Given the description of an element on the screen output the (x, y) to click on. 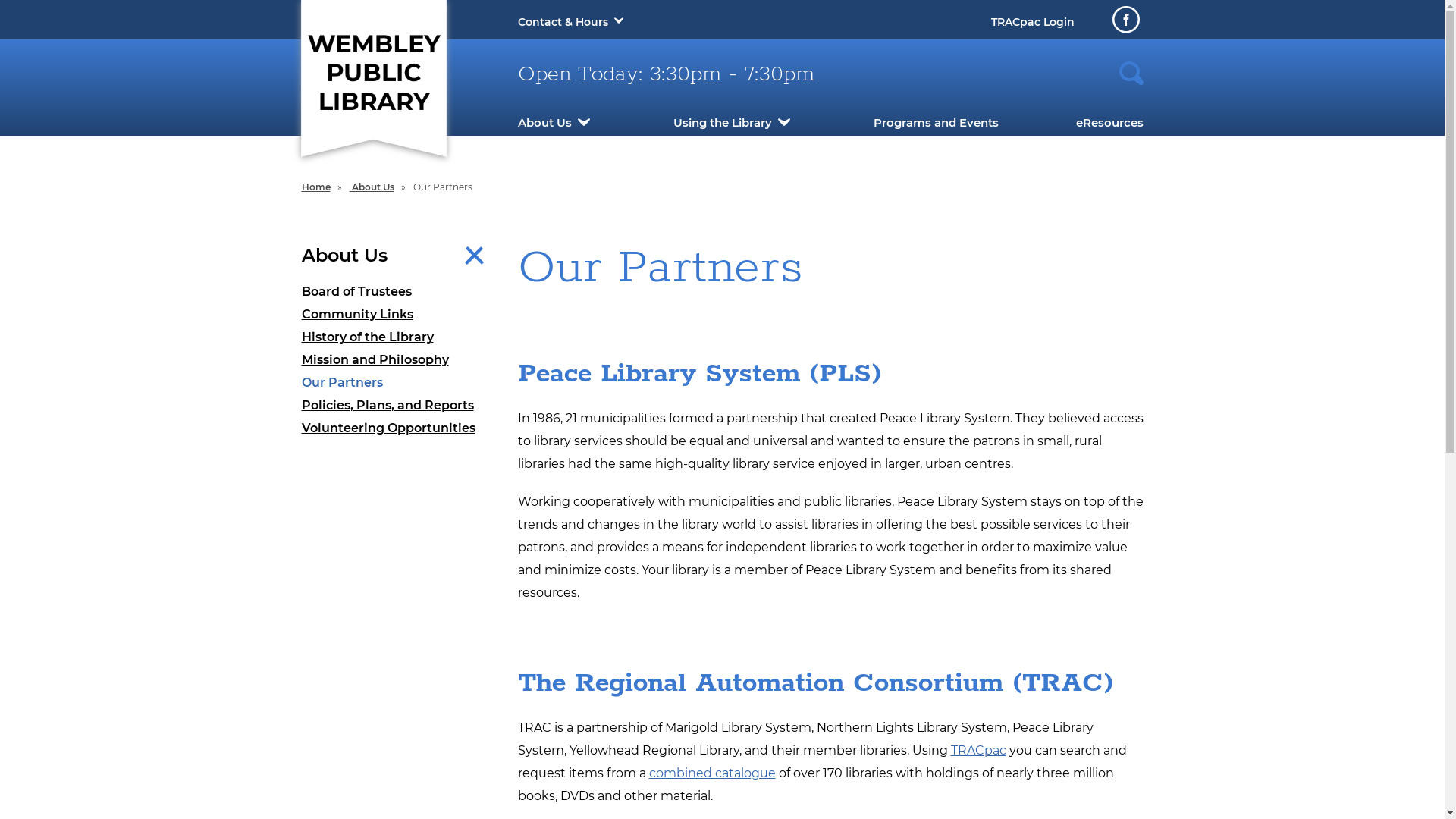
Volunteering Opportunities Element type: text (398, 428)
TRACpac Login Element type: text (1031, 21)
About Us Element type: text (371, 186)
eResources Element type: text (1108, 122)
Home Element type: text (315, 186)
Mission and Philosophy Element type: text (398, 359)
Using the Library Element type: text (722, 122)
History of the Library Element type: text (398, 337)
Programs and Events Element type: text (935, 122)
Board of Trustees Element type: text (398, 291)
Facebook Element type: hover (1125, 19)
Policies, Plans, and Reports Element type: text (398, 405)
Contact & Hours Element type: text (562, 21)
TRACpac Element type: text (978, 750)
Wembley Public Library Element type: hover (372, 69)
combined catalogue Element type: text (712, 772)
Our Partners Element type: text (398, 382)
Community Links Element type: text (398, 314)
About Us Element type: text (544, 122)
About Us
Toggle navigation Element type: text (398, 255)
